Given the description of an element on the screen output the (x, y) to click on. 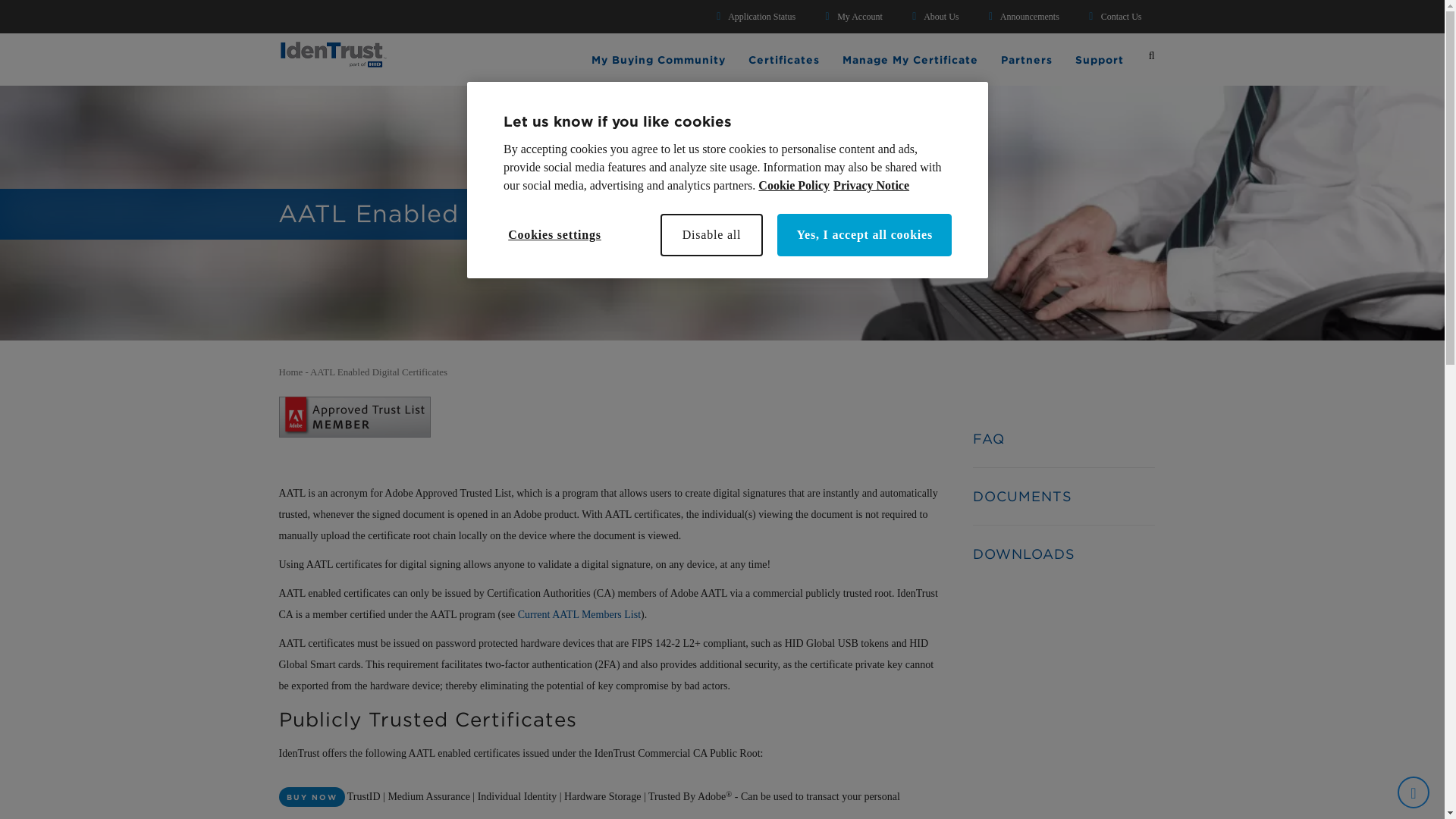
Support (1099, 62)
Certificates (783, 62)
Contact Us (1118, 16)
My Buying Community (657, 62)
About Us (939, 16)
Application Status (759, 16)
Manage My Certificate (910, 62)
Home (333, 50)
My Account (857, 16)
